Given the description of an element on the screen output the (x, y) to click on. 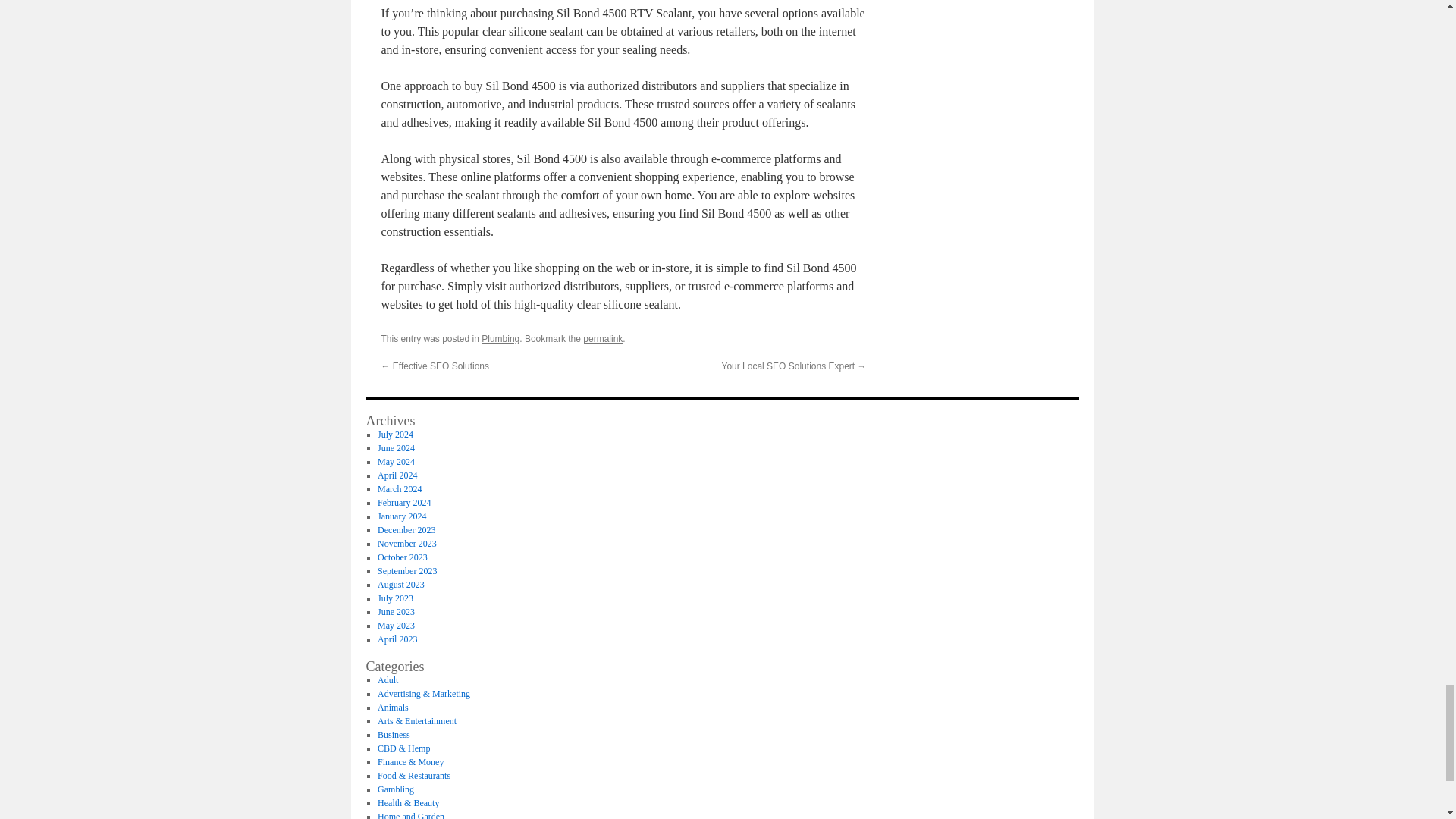
January 2024 (401, 516)
September 2023 (406, 570)
permalink (603, 338)
Adult (387, 679)
April 2024 (396, 475)
Animals (393, 706)
May 2023 (395, 624)
June 2024 (395, 448)
June 2023 (395, 611)
Plumbing (500, 338)
July 2023 (395, 597)
October 2023 (402, 557)
May 2024 (395, 461)
February 2024 (403, 502)
